Given the description of an element on the screen output the (x, y) to click on. 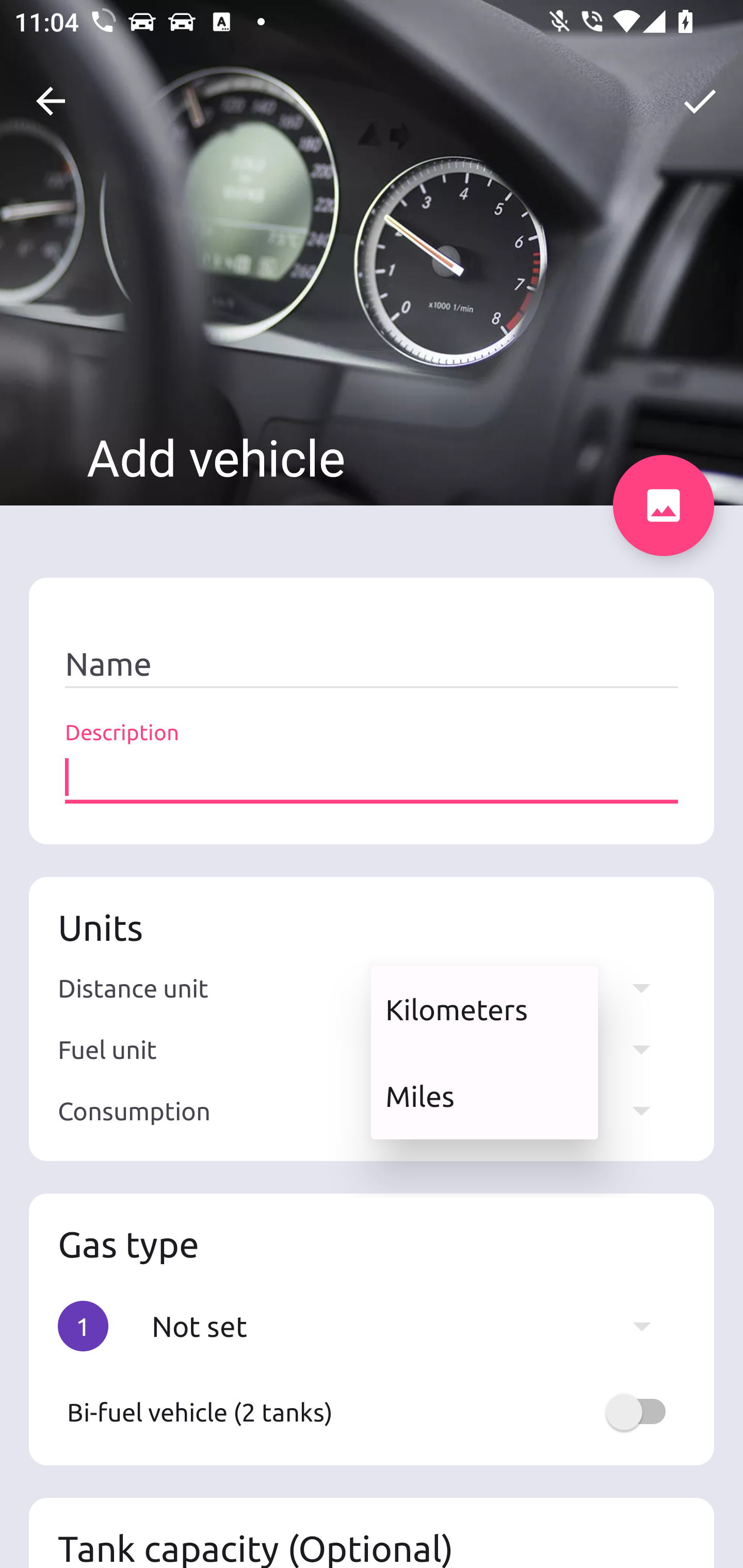
Kilometers (484, 1008)
Miles (484, 1095)
